Given the description of an element on the screen output the (x, y) to click on. 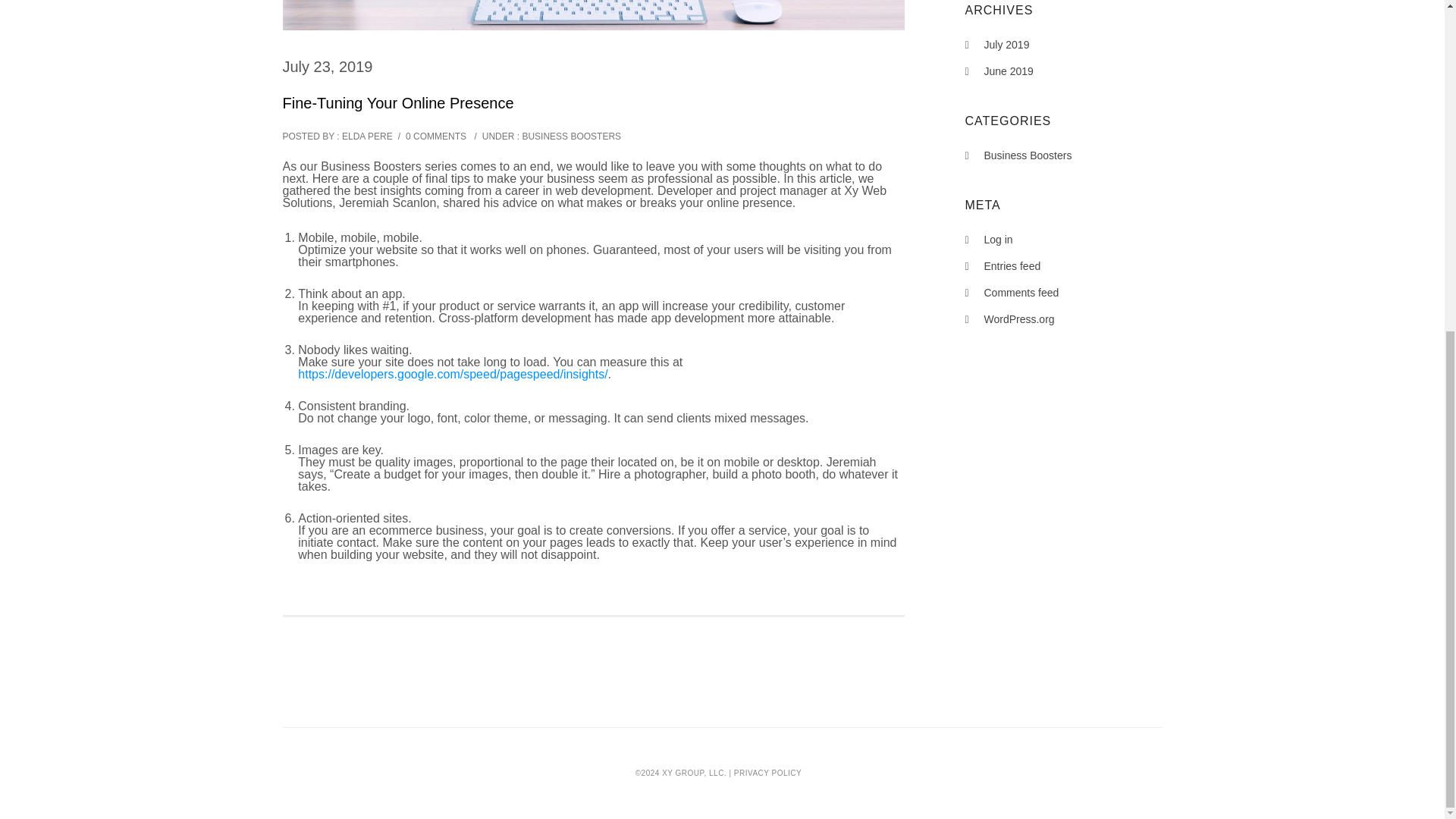
Fine-Tuning Your Online Presence (397, 102)
BUSINESS BOOSTERS (570, 136)
Log in (998, 239)
Entries feed (1012, 265)
Business Boosters (1027, 155)
June 2019 (1008, 70)
Comments feed (1021, 292)
0 COMMENTS (435, 136)
July 2019 (1006, 44)
July 23, 2019 (327, 66)
